Given the description of an element on the screen output the (x, y) to click on. 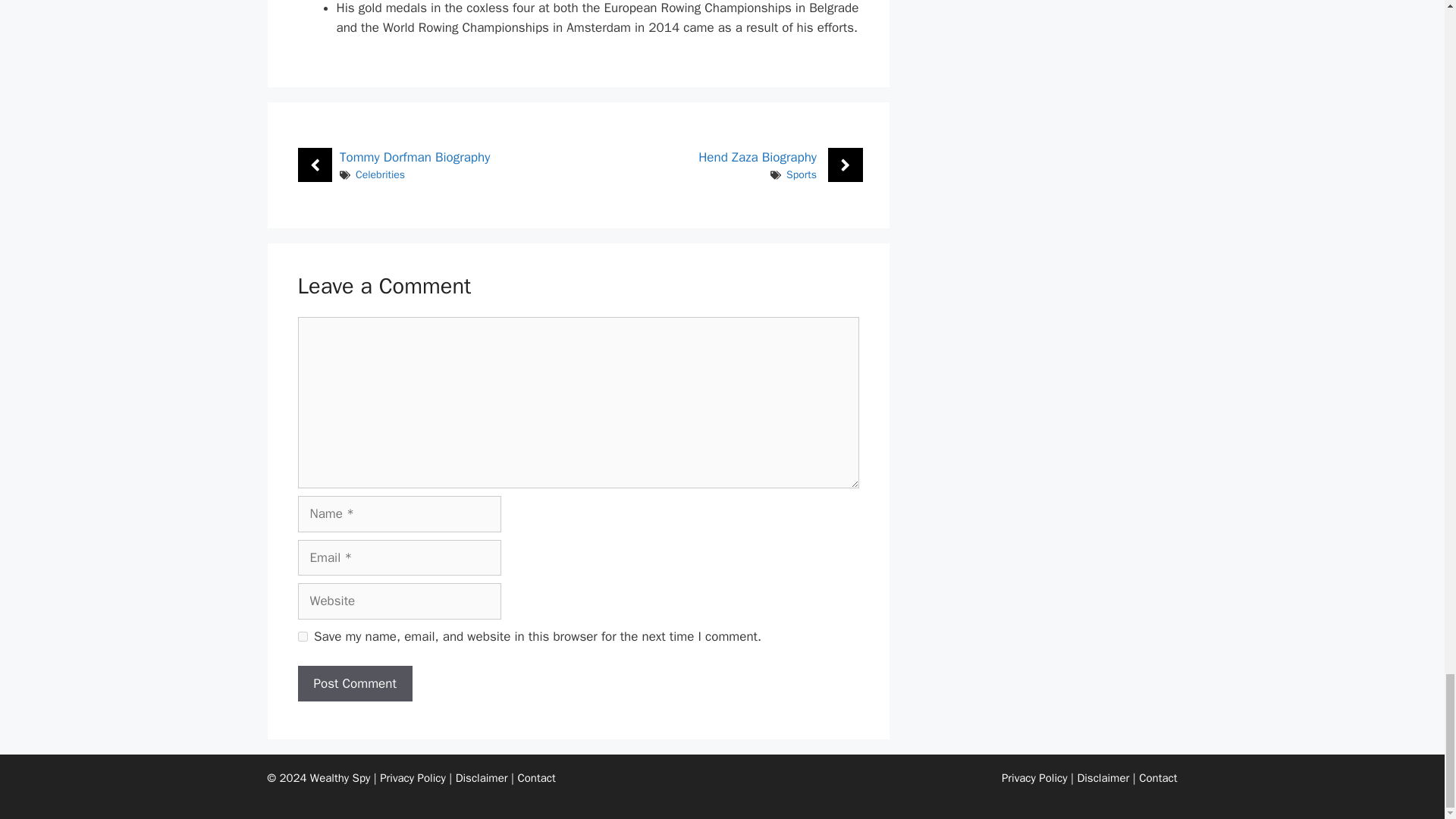
Celebrities (379, 174)
Tommy Dorfman Biography (414, 157)
Post Comment (354, 683)
yes (302, 636)
Sports (801, 174)
Post Comment (354, 683)
Hend Zaza Biography (757, 157)
